Given the description of an element on the screen output the (x, y) to click on. 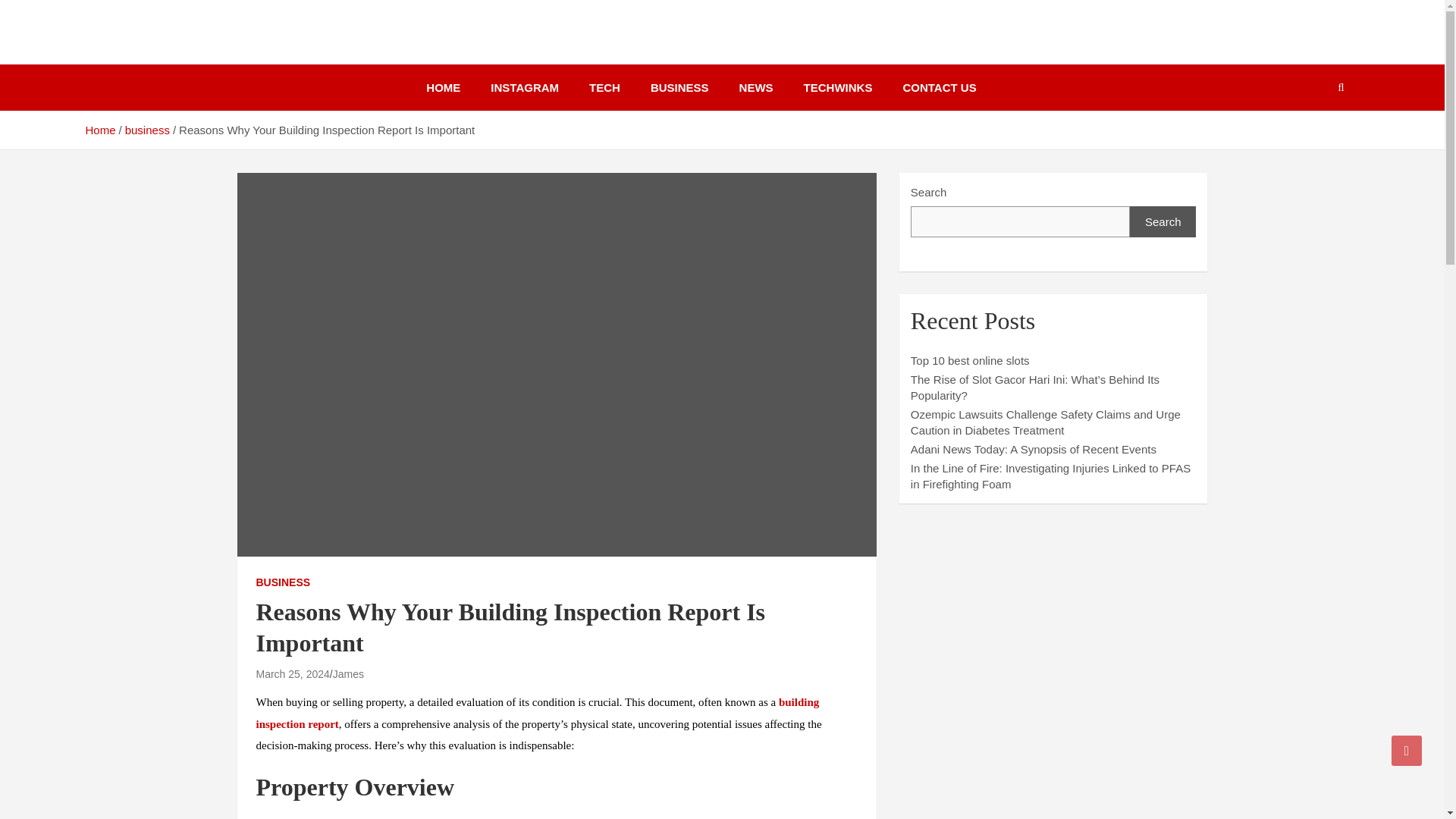
TECHWINKS (838, 87)
Go to Top (1406, 750)
Top 10 best online slots (970, 359)
Search (1162, 221)
building inspection report (537, 713)
Tech Winks (160, 49)
CONTACT US (938, 87)
TECH (603, 87)
